Given the description of an element on the screen output the (x, y) to click on. 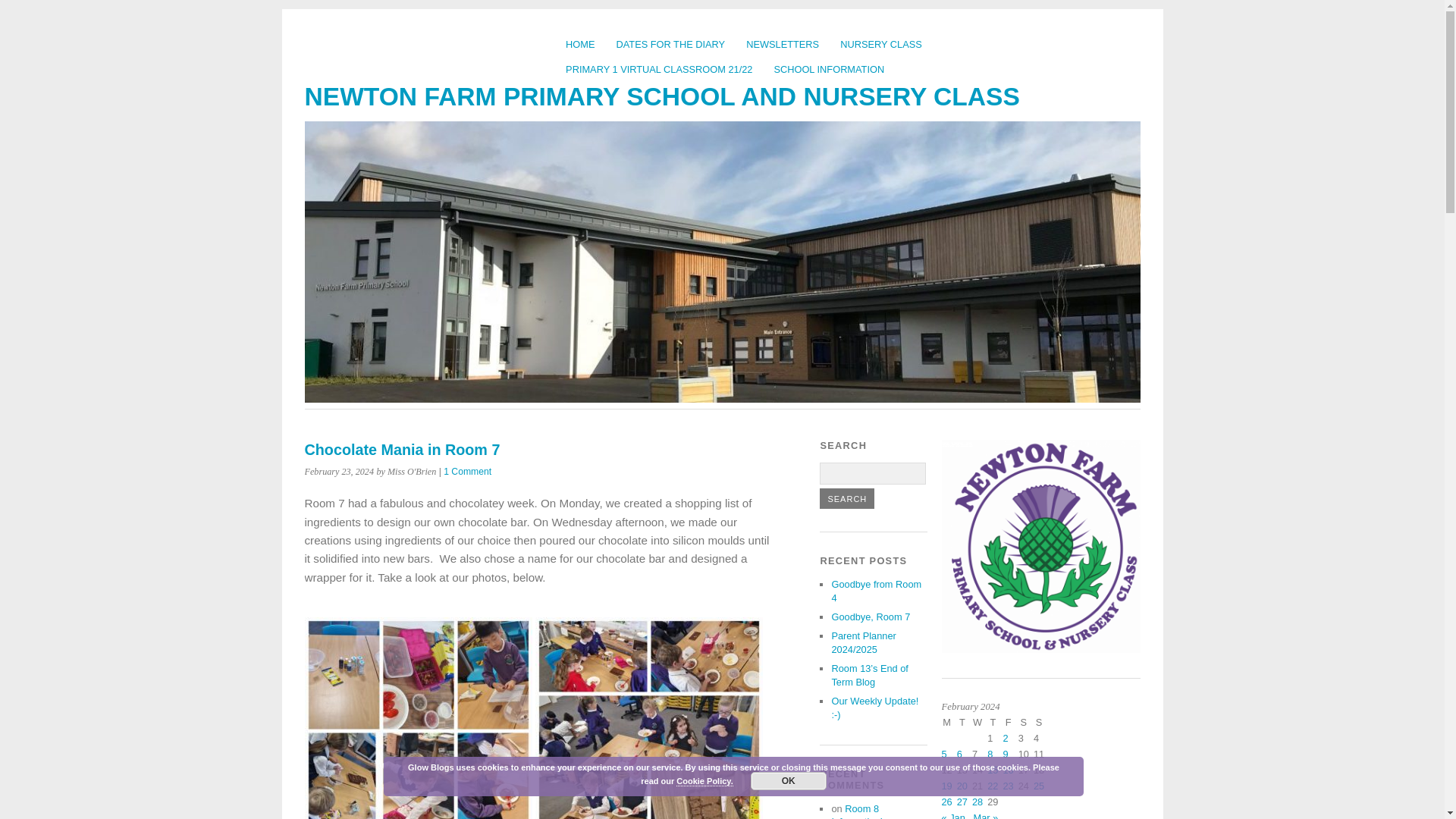
Search (847, 498)
Search (847, 498)
Friday (1010, 724)
Newton Farm Primary School and Nursery Class (662, 96)
Wednesday (979, 724)
NURSERY CLASS (881, 43)
NEWSLETTERS (782, 43)
SCHOOL INFORMATION (828, 68)
NEWTON FARM PRIMARY SCHOOL AND NURSERY CLASS (662, 96)
Search (847, 498)
Thursday (995, 724)
Tuesday (964, 724)
Goodbye from Room 4 (876, 590)
Goodbye, Room 7 (870, 616)
Monday (949, 724)
